Given the description of an element on the screen output the (x, y) to click on. 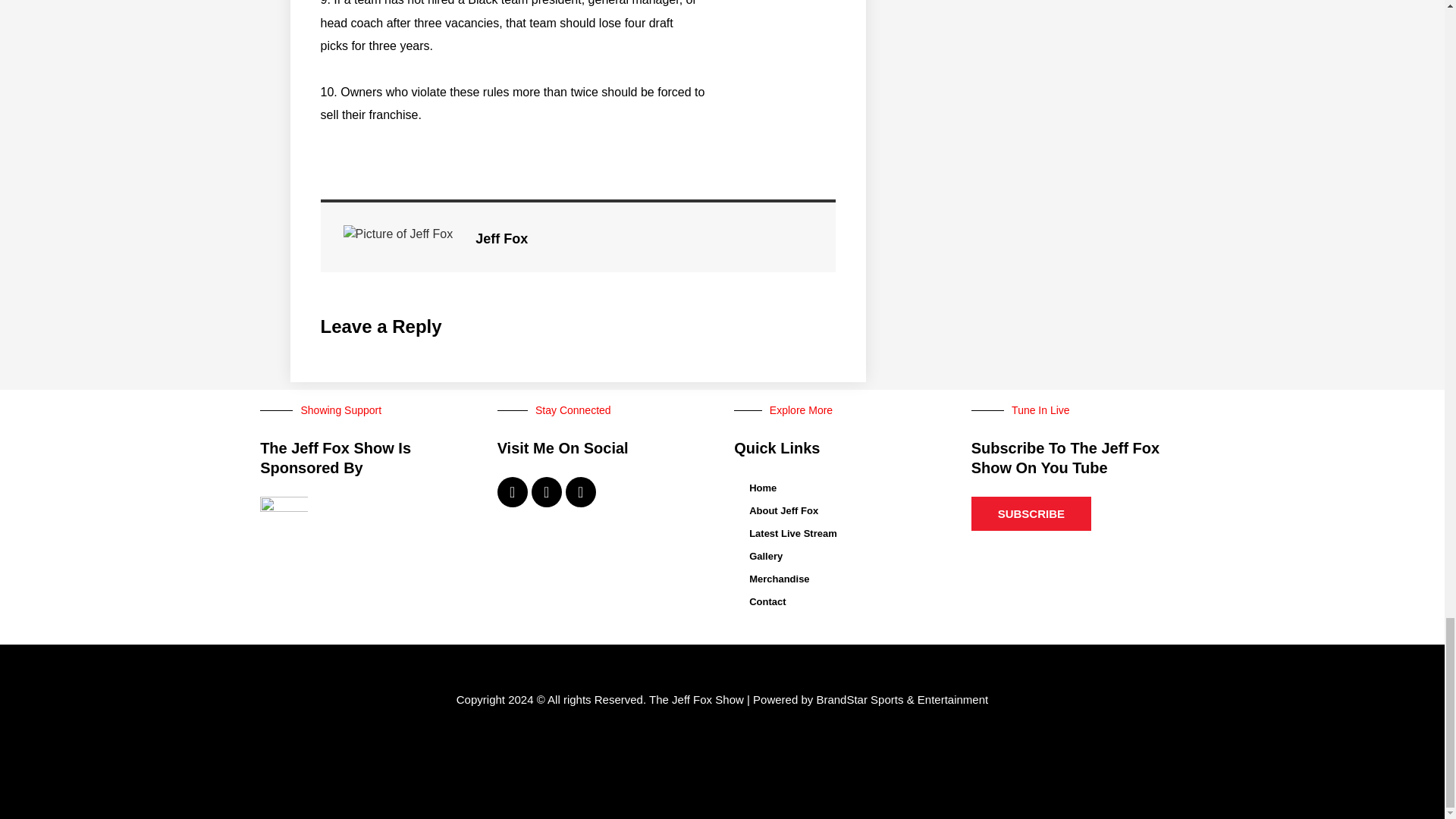
Gallery (840, 556)
Merchandise (840, 579)
Home (840, 487)
Contact (840, 601)
Latest Live Stream (840, 533)
About Jeff Fox (840, 510)
